Given the description of an element on the screen output the (x, y) to click on. 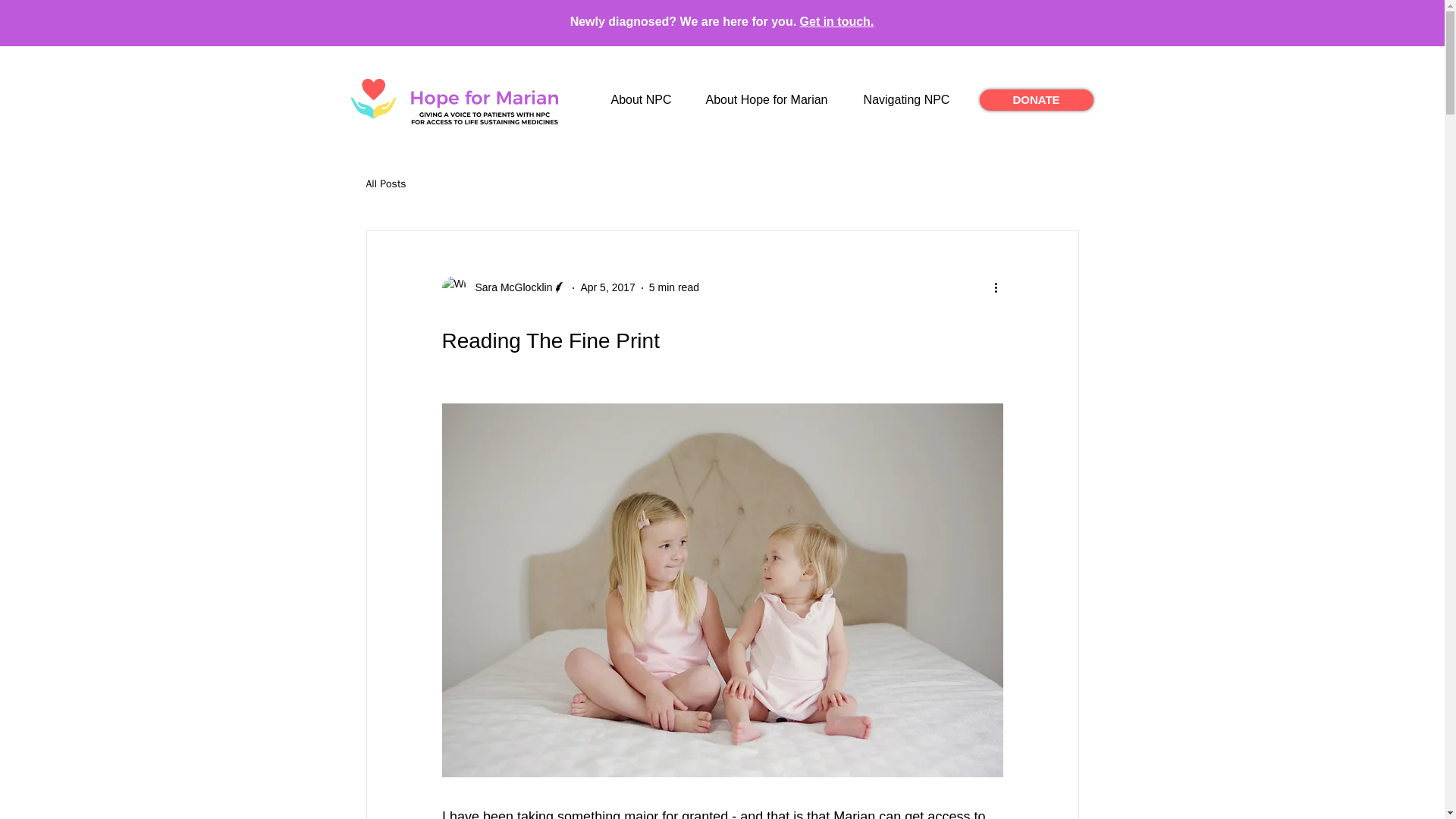
Get in touch. (837, 21)
Sara McGlocklin (508, 287)
DONATE (1036, 99)
Apr 5, 2017 (606, 287)
All Posts (385, 183)
About NPC (641, 99)
Sara McGlocklin (503, 288)
5 min read (673, 287)
